Given the description of an element on the screen output the (x, y) to click on. 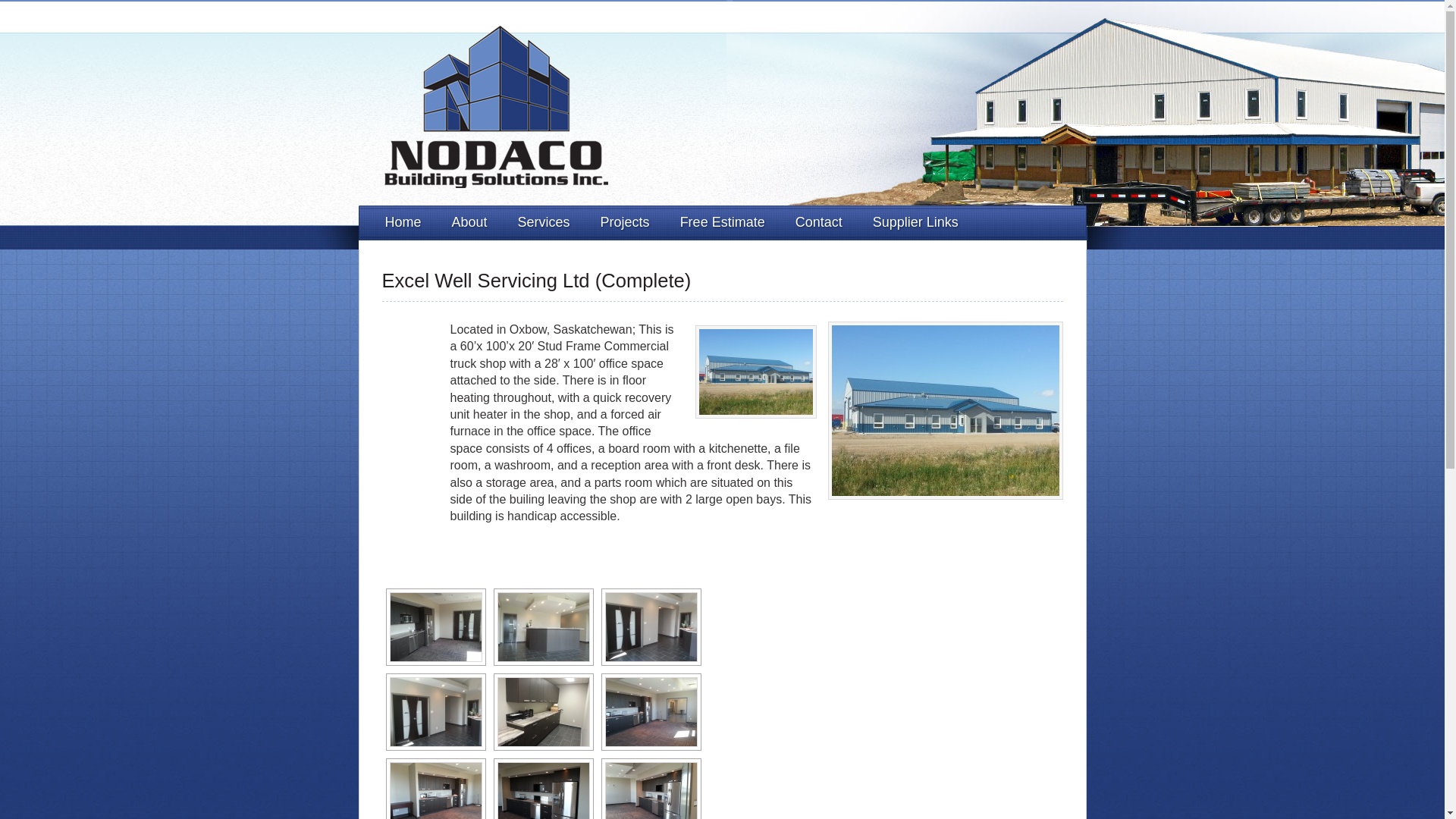
Projects (625, 222)
Supplier Links (915, 222)
Free Estimate (722, 222)
Contact (818, 222)
Home (402, 222)
About (469, 222)
Services (543, 222)
